Given the description of an element on the screen output the (x, y) to click on. 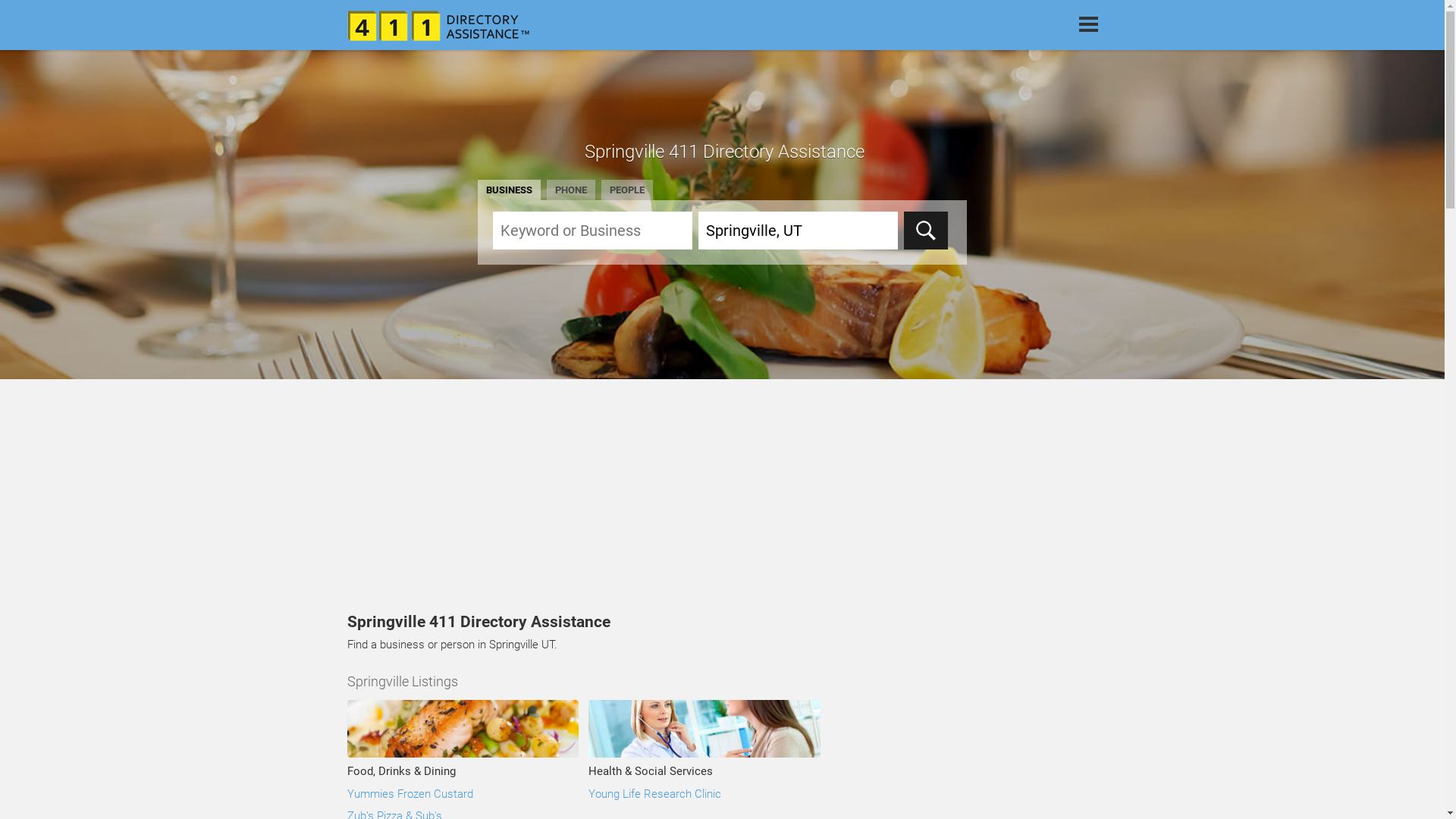
Yummies Frozen Custard Element type: text (410, 793)
PEOPLE Element type: text (626, 189)
Young Life Research Clinic Element type: text (654, 793)
BUSINESS Element type: text (508, 189)
Advertisement Element type: hover (721, 496)
PHONE Element type: text (570, 189)
411 Directory Assistance Element type: hover (438, 25)
